Given the description of an element on the screen output the (x, y) to click on. 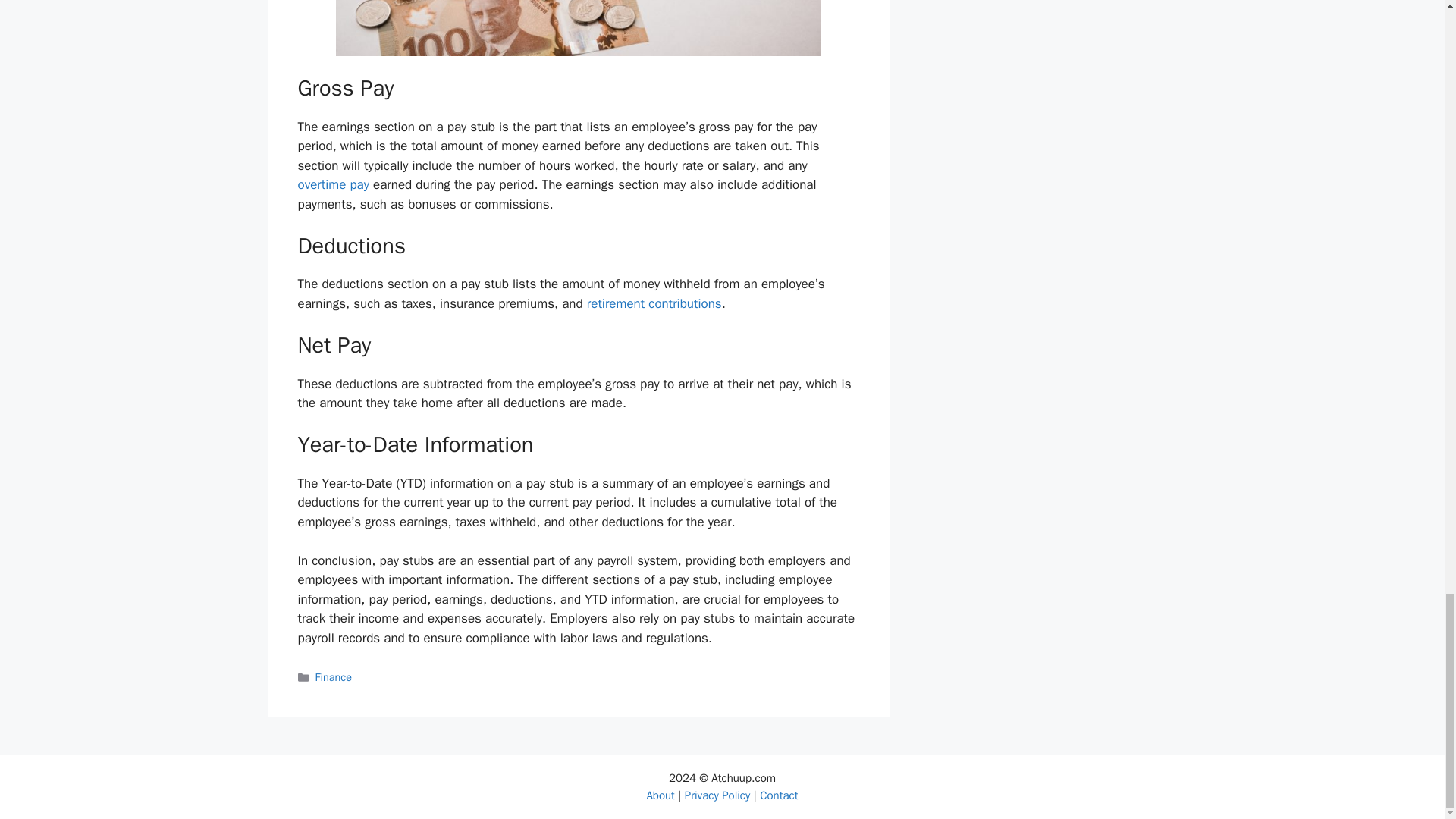
Finance (333, 676)
overtime pay (332, 184)
retirement contributions (654, 303)
